Given the description of an element on the screen output the (x, y) to click on. 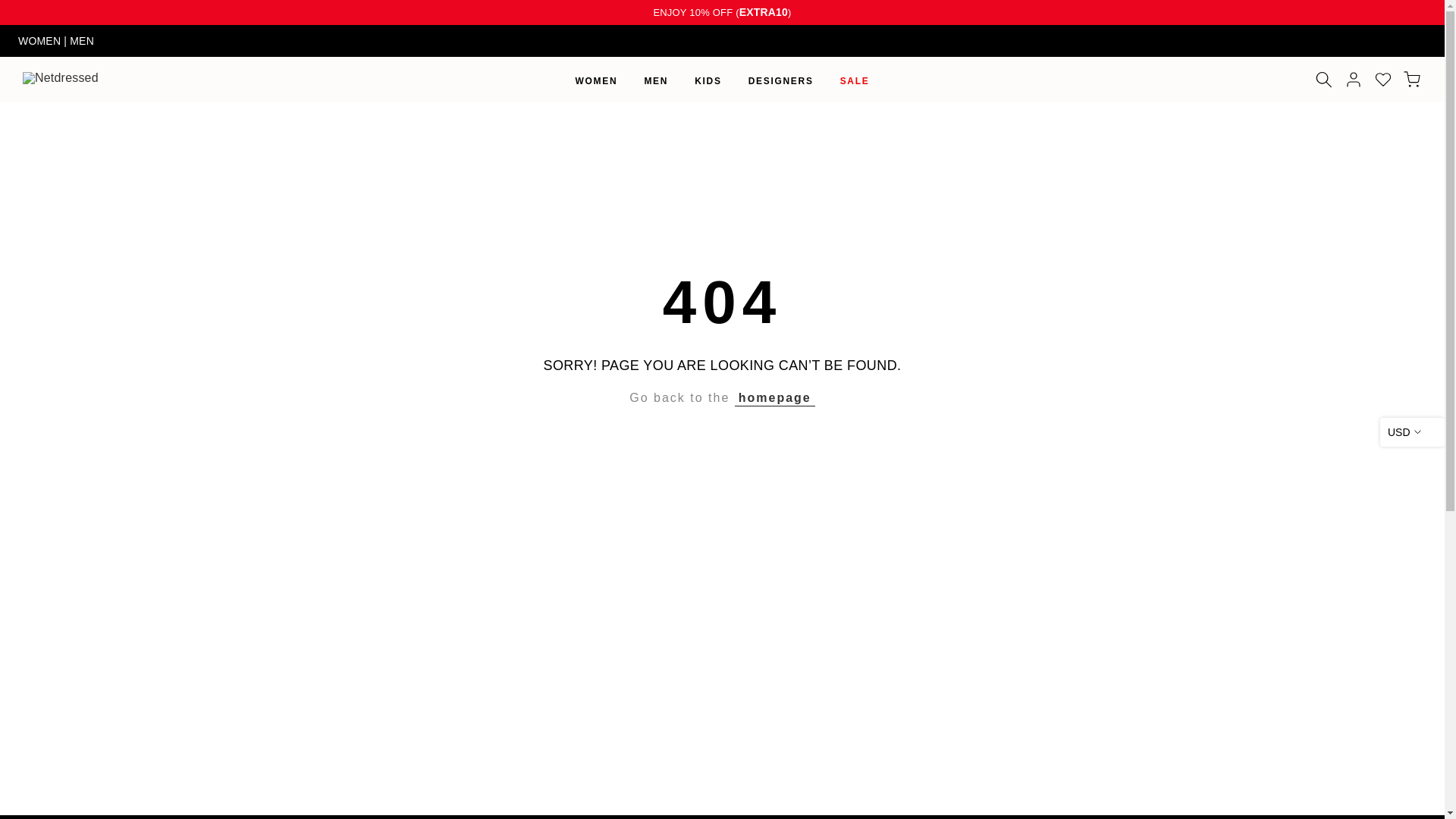
WOMEN (596, 80)
homepage (775, 397)
MEN (655, 80)
SALE (854, 80)
MEN (81, 40)
KIDS (708, 80)
USD (1412, 431)
WOMEN (40, 40)
DESIGNERS (781, 80)
Skip to content (10, 7)
